Given the description of an element on the screen output the (x, y) to click on. 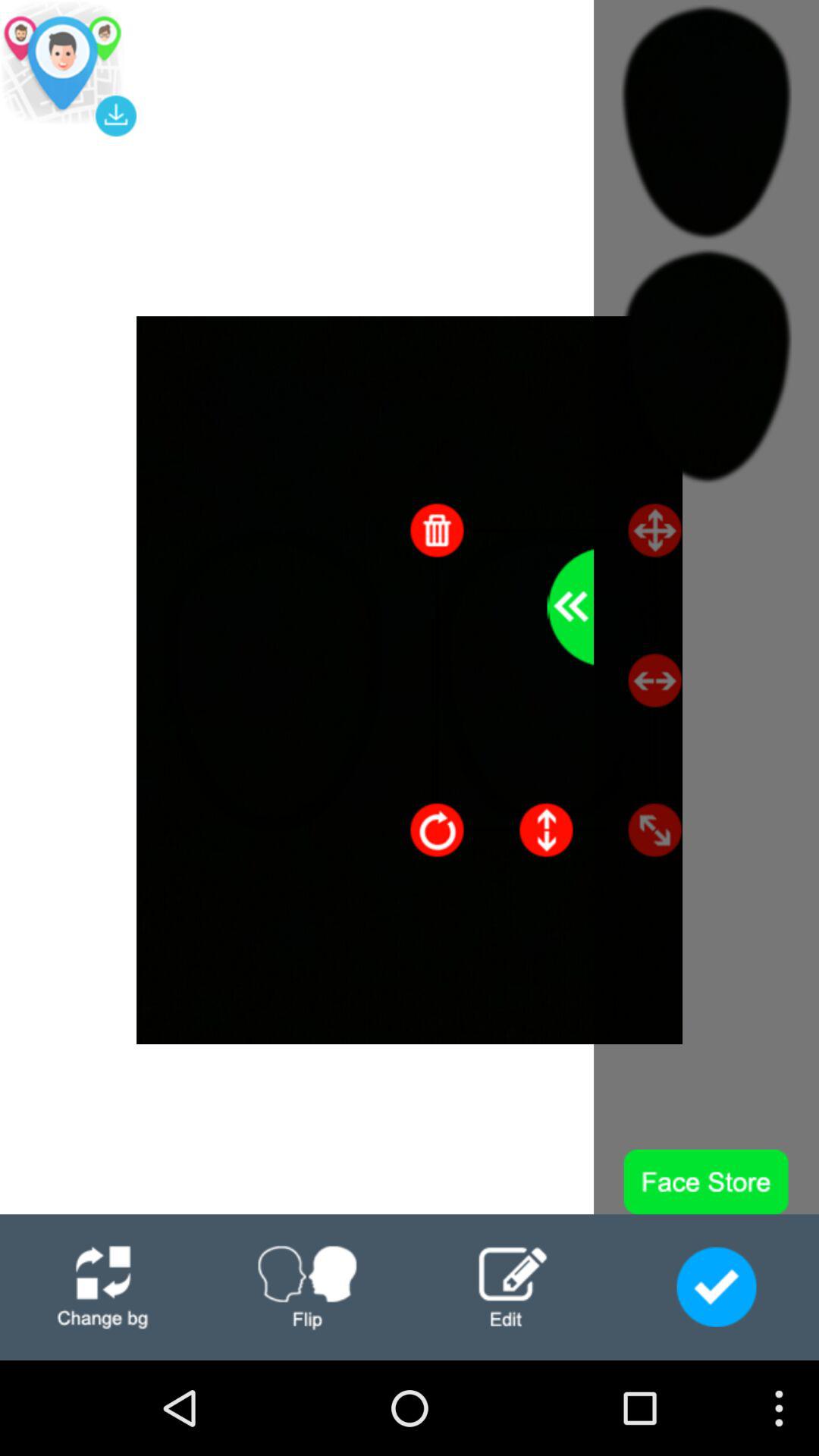
finished (716, 1286)
